Given the description of an element on the screen output the (x, y) to click on. 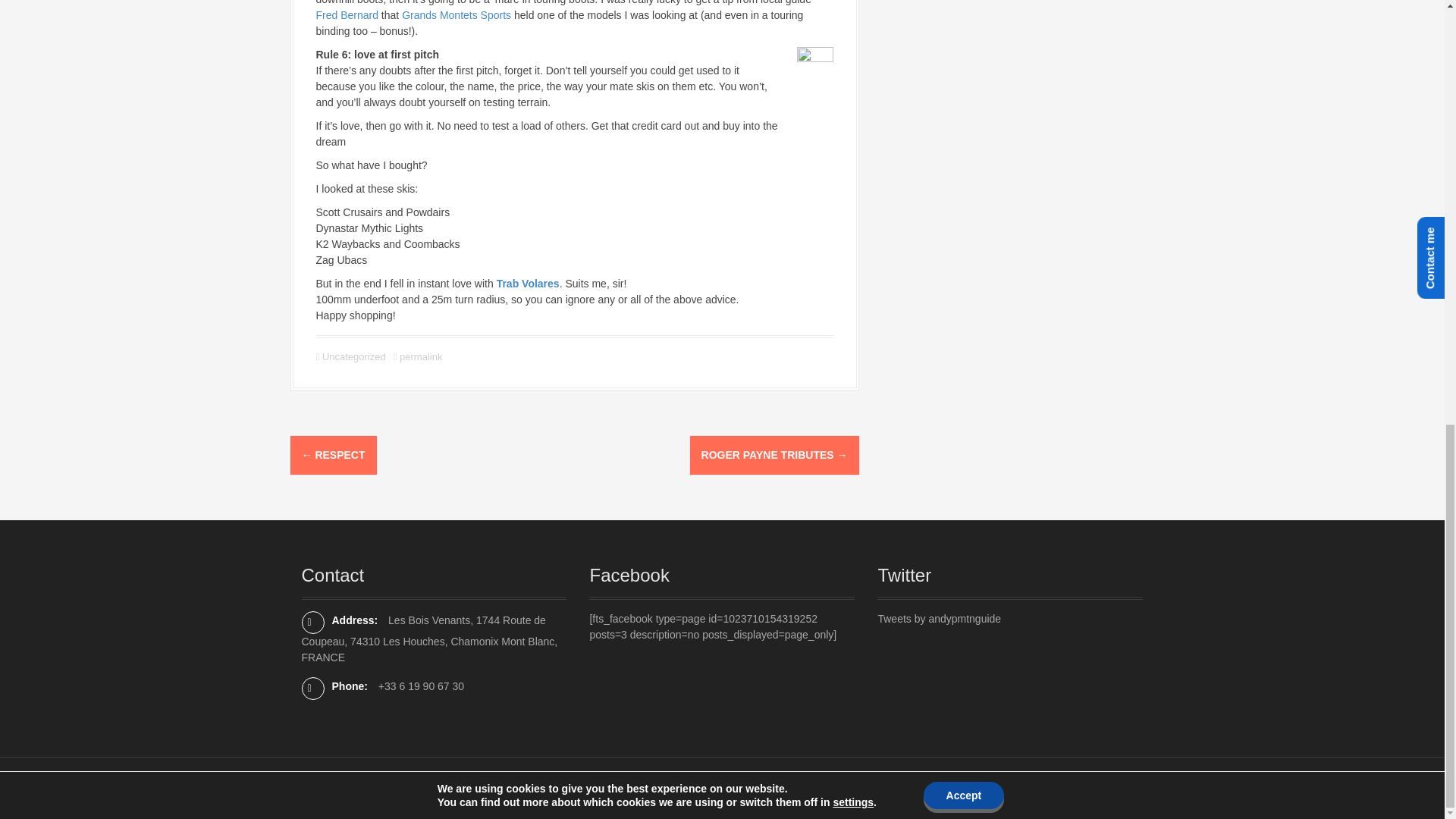
Proudly powered by WordPress (364, 787)
Tweets by andypmtnguide (939, 618)
Moesia (503, 787)
Fred Bernard (346, 15)
Grands Montets Sports (456, 15)
Uncategorized (353, 356)
Trab Volares (527, 283)
permalink (419, 356)
